Given the description of an element on the screen output the (x, y) to click on. 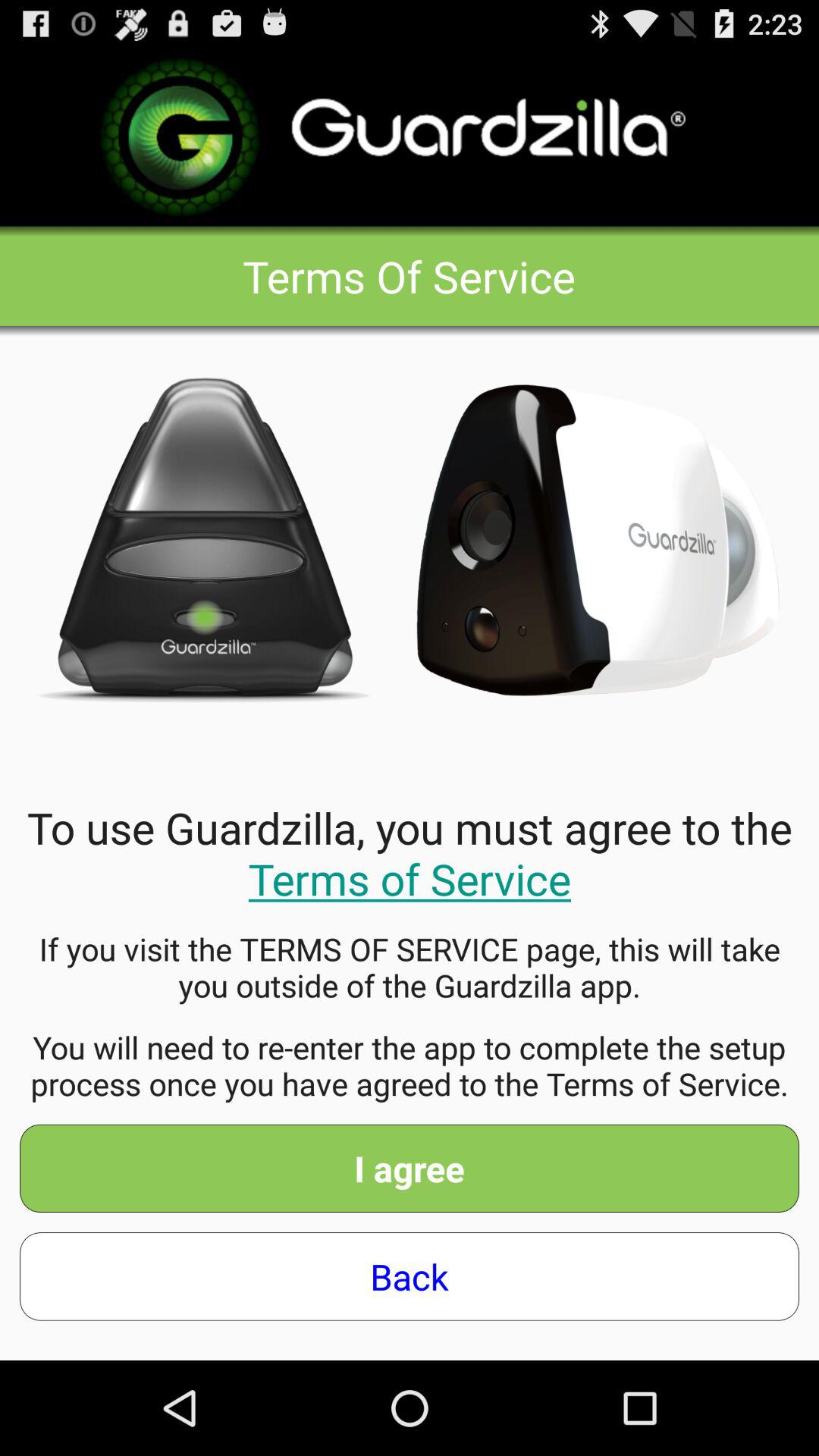
launch back app (409, 1276)
